Given the description of an element on the screen output the (x, y) to click on. 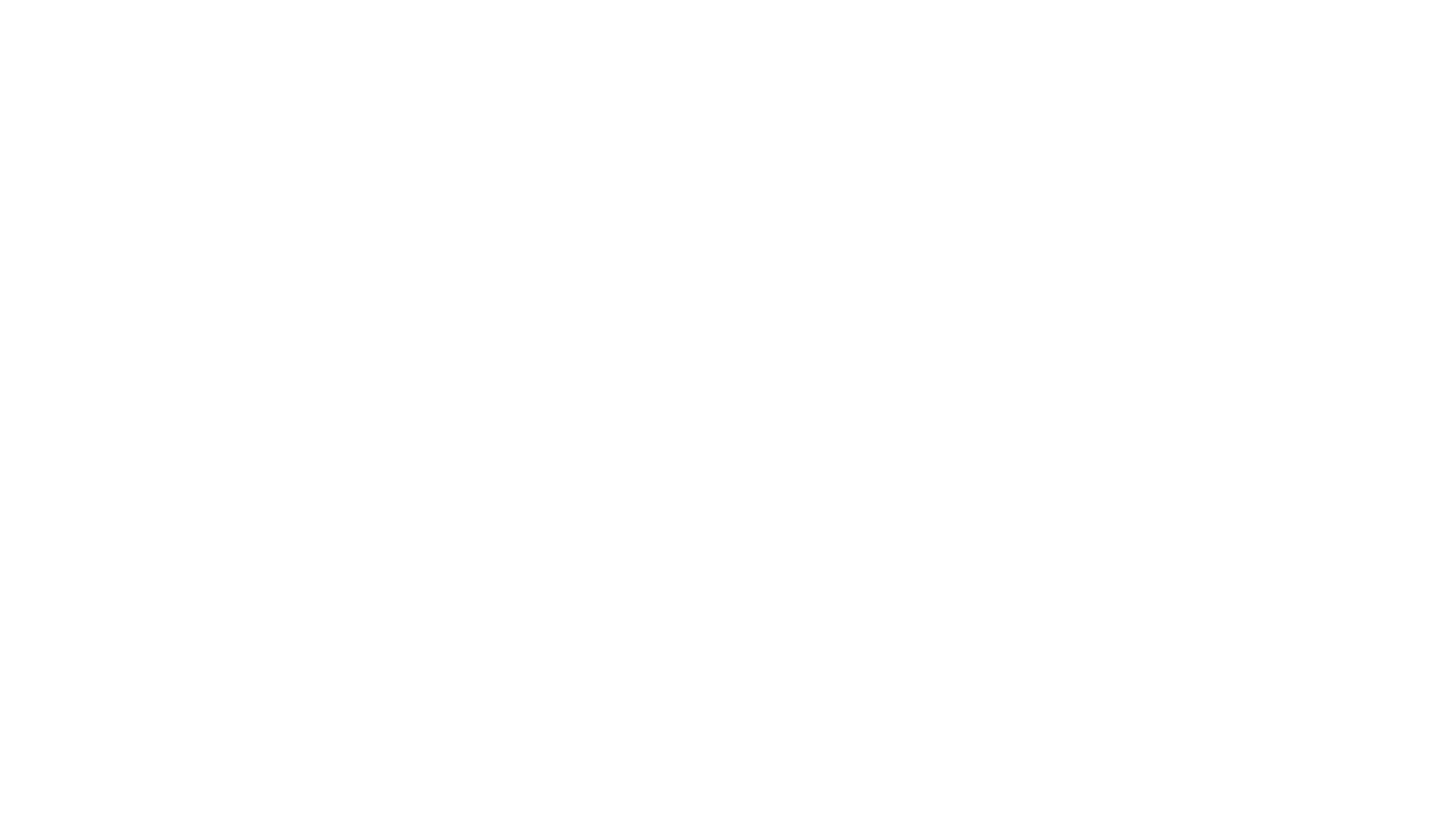
Distinctions Element type: text (839, 31)
Contact Element type: text (1058, 31)
Antonine-Maillet-Acadie Vie Element type: text (554, 488)
Oeuvres Element type: text (664, 31)
Home Element type: hover (431, 22)
Auteur Element type: text (604, 31)
